Given the description of an element on the screen output the (x, y) to click on. 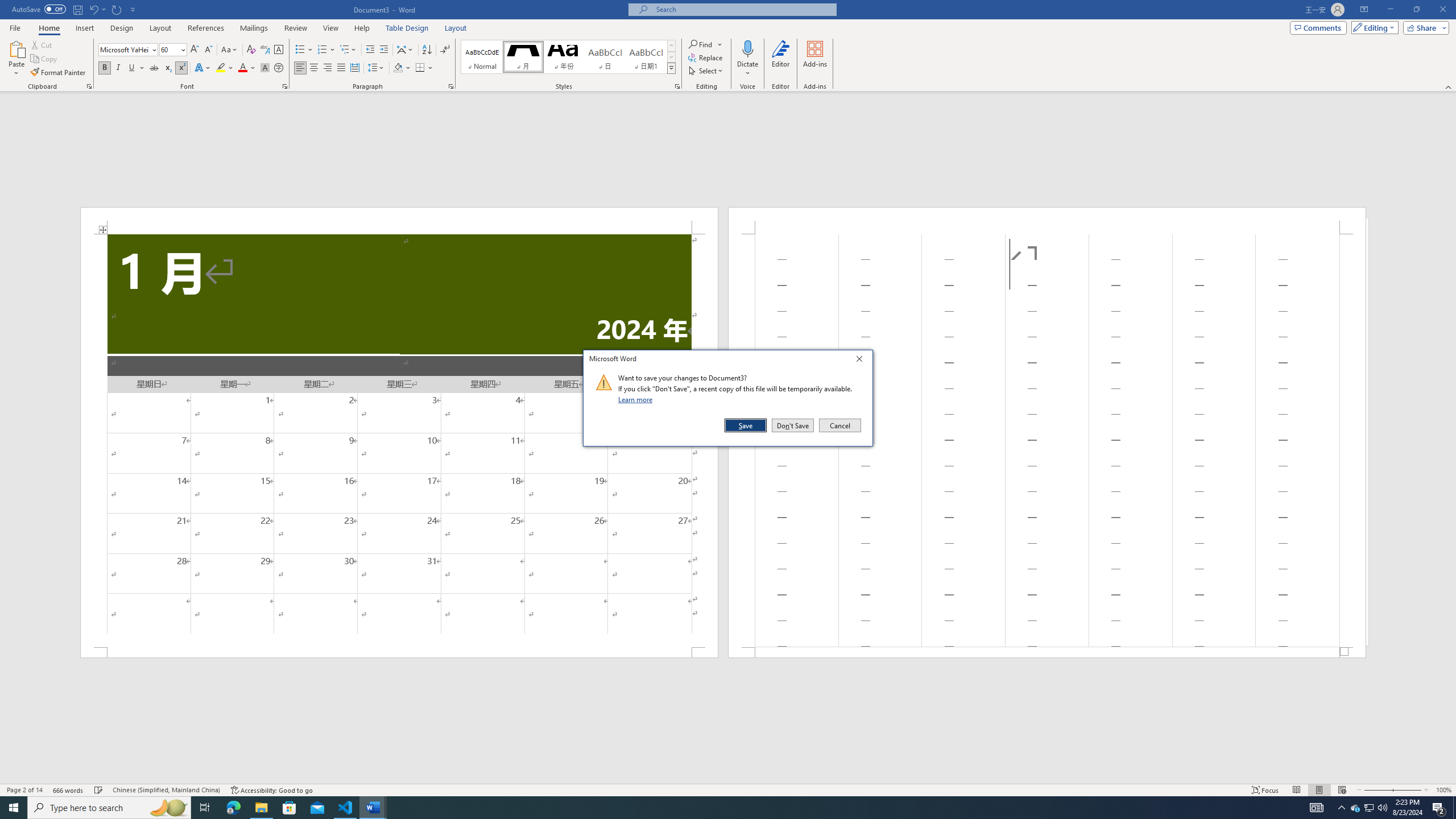
Font... (285, 85)
AutomationID: 4105 (1316, 807)
Select (705, 69)
Task View (204, 807)
Clear Formatting (250, 49)
User Promoted Notification Area (1368, 807)
